Given the description of an element on the screen output the (x, y) to click on. 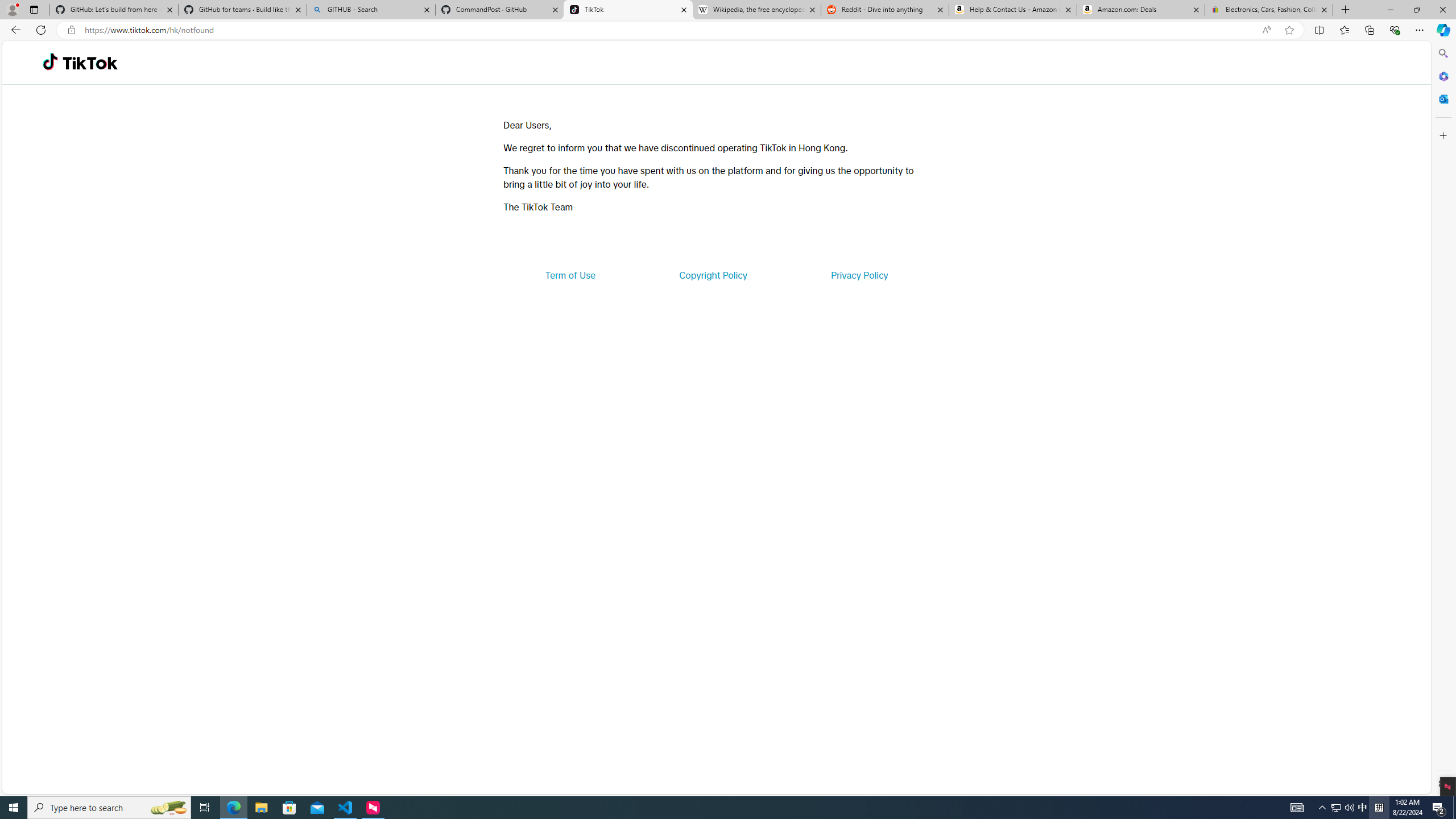
TikTok (89, 62)
